Given the description of an element on the screen output the (x, y) to click on. 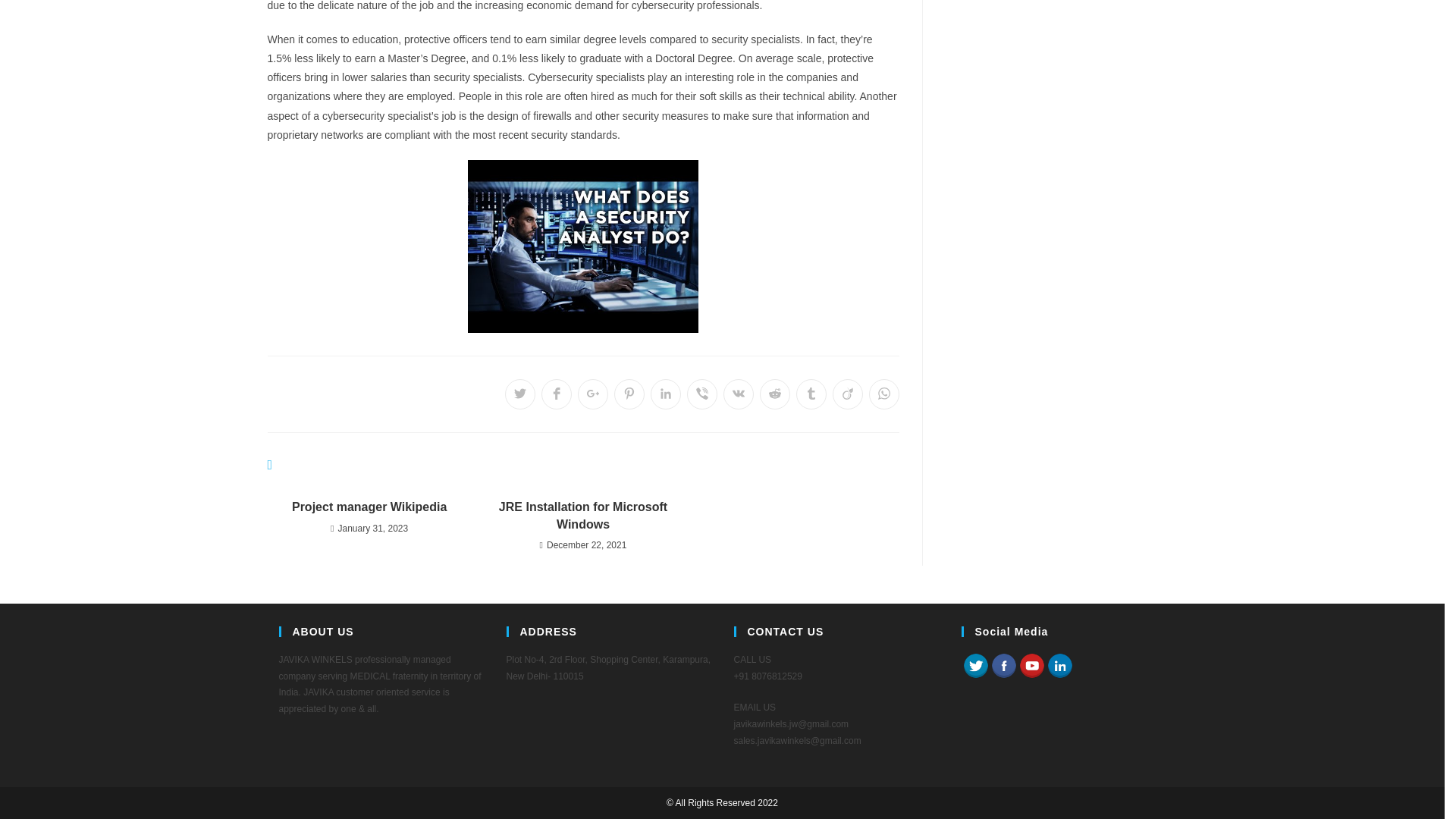
Visit Us On Facebook (1002, 665)
Visit Us On Youtube (1031, 665)
Project manager Wikipedia (368, 506)
Visit Us On Twitter (975, 665)
JRE Installation for Microsoft Windows (582, 515)
Visit Us On Linkedin (1059, 665)
